Given the description of an element on the screen output the (x, y) to click on. 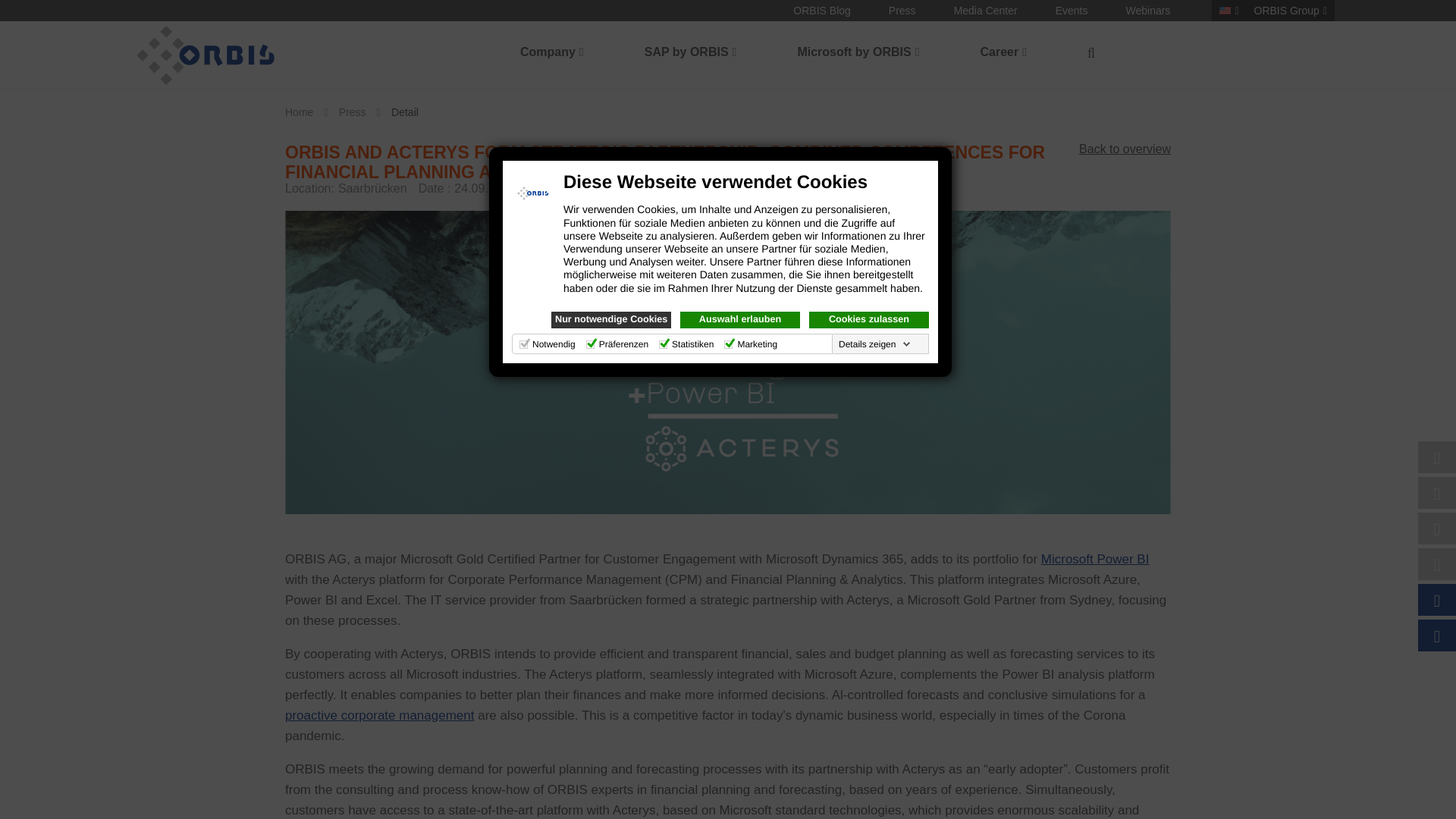
Cookies zulassen (868, 320)
Details zeigen (874, 344)
Auswahl erlauben (739, 320)
Nur notwendige Cookies (611, 320)
